Given the description of an element on the screen output the (x, y) to click on. 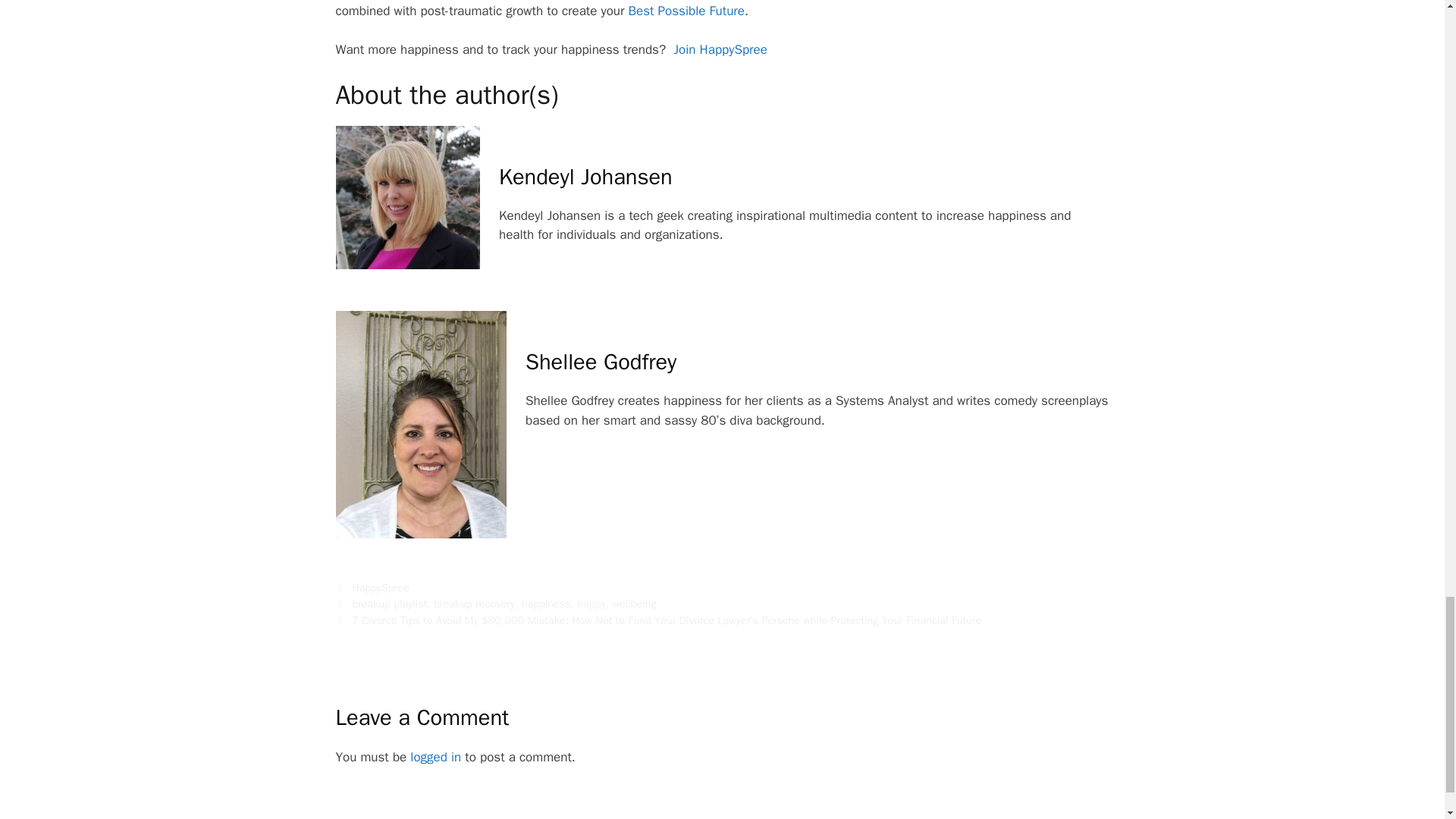
Previous (657, 620)
Best Possible Future (686, 10)
Join HappySpree (719, 49)
